Given the description of an element on the screen output the (x, y) to click on. 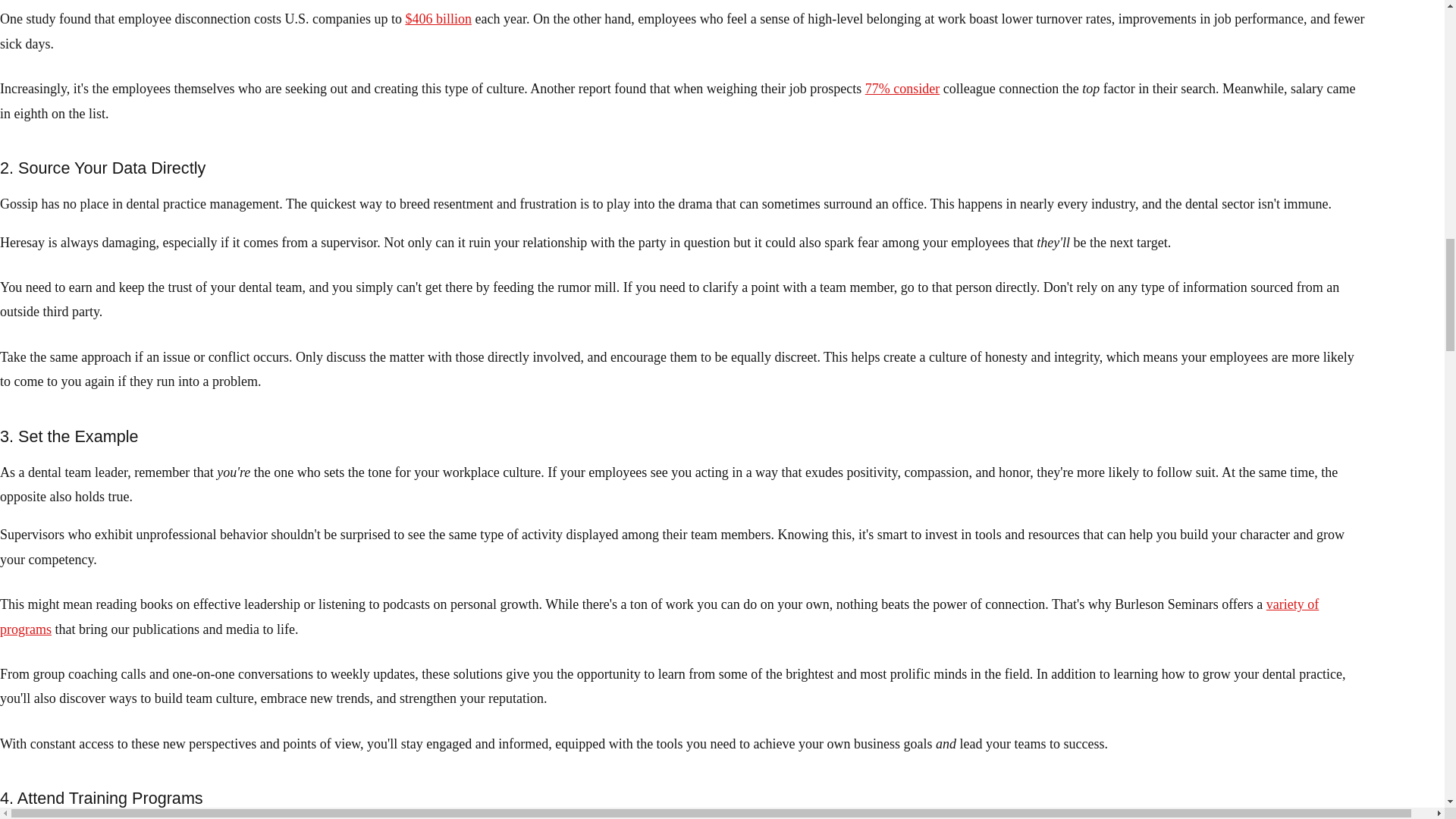
variety of programs (659, 616)
